Given the description of an element on the screen output the (x, y) to click on. 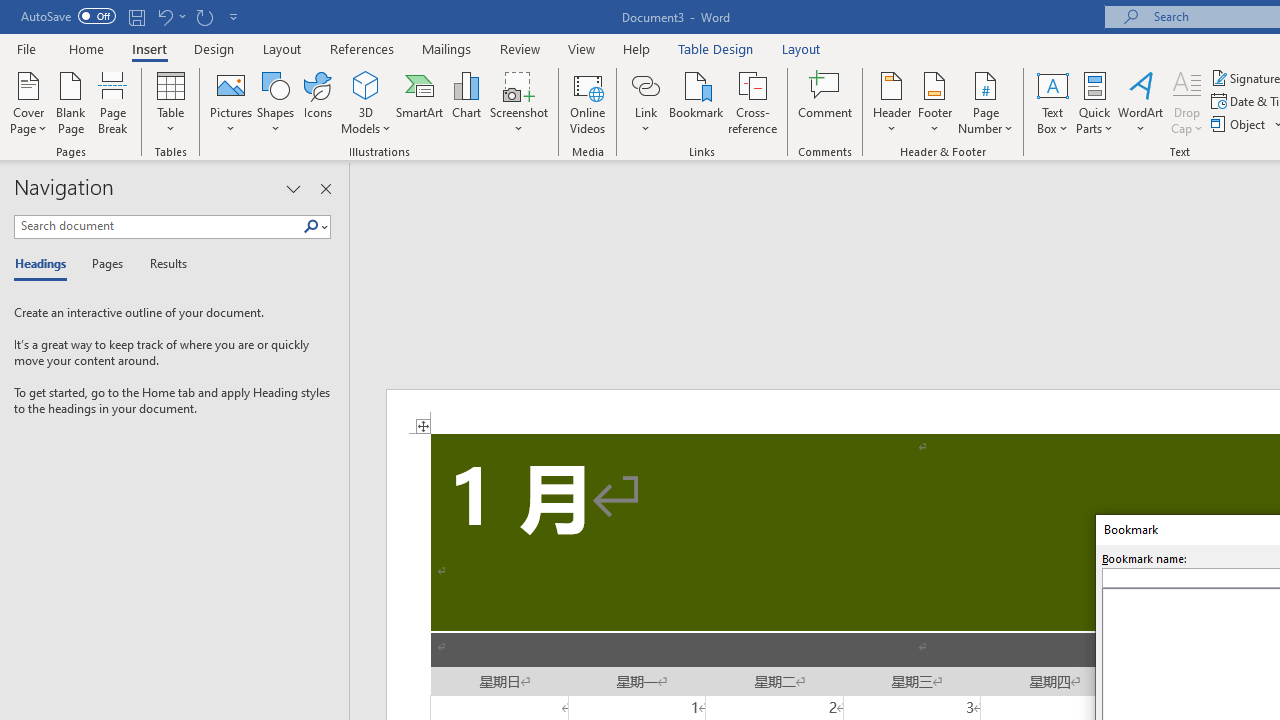
Cover Page (28, 102)
Object... (1240, 124)
Undo Increase Indent (164, 15)
Customize Quick Access Toolbar (234, 15)
Page Number (986, 102)
Comment (825, 102)
AutoSave (68, 16)
Pages (105, 264)
Link (645, 84)
Page Break (113, 102)
3D Models (366, 84)
Chart... (466, 102)
